Given the description of an element on the screen output the (x, y) to click on. 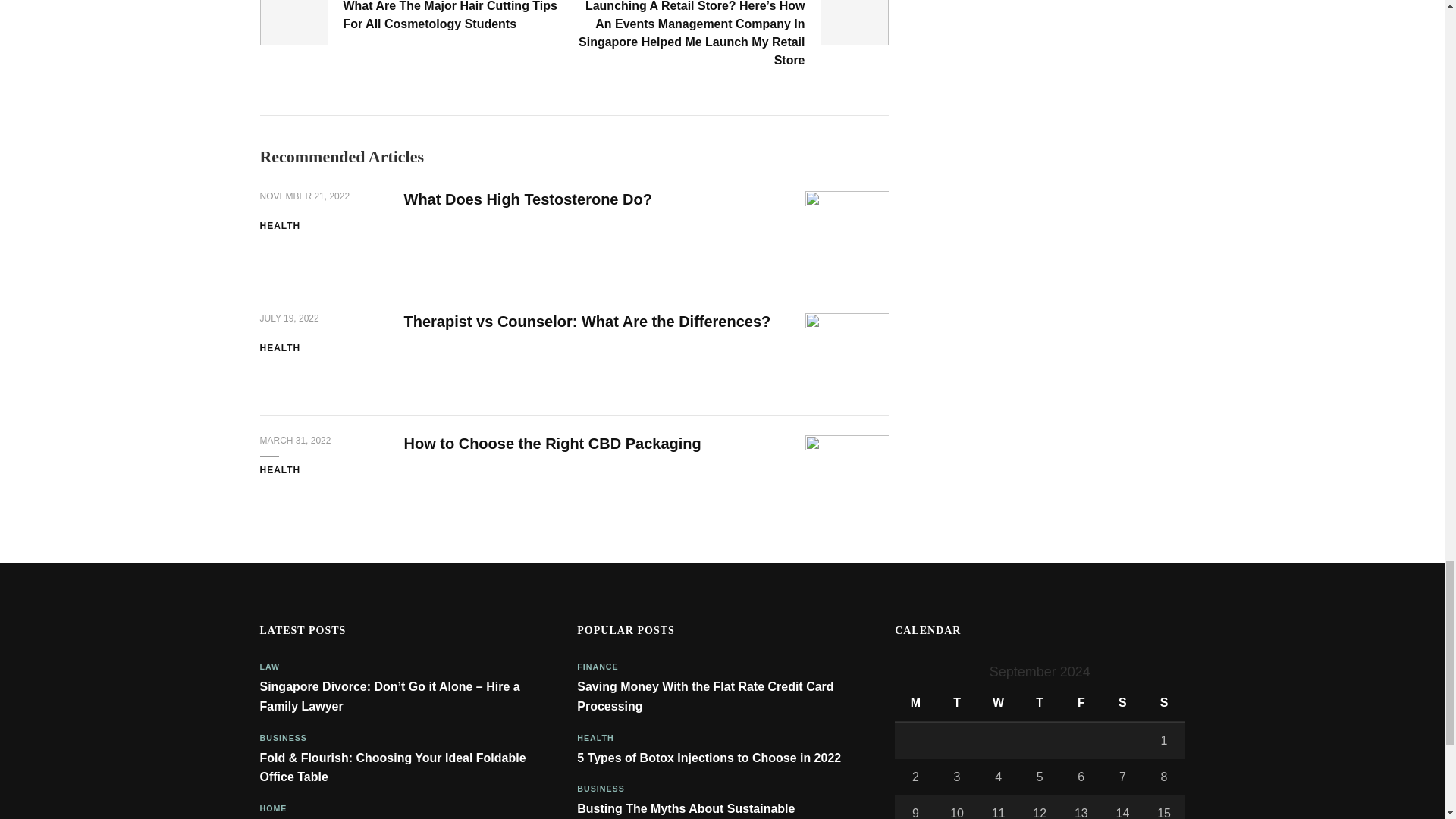
MARCH 31, 2022 (294, 440)
NOVEMBER 21, 2022 (304, 196)
Tuesday (957, 702)
Saturday (1122, 702)
Therapist vs Counselor: What Are the Differences? (586, 321)
HEALTH (279, 470)
JULY 19, 2022 (288, 318)
Friday (1080, 702)
Wednesday (997, 702)
HEALTH (279, 348)
